Given the description of an element on the screen output the (x, y) to click on. 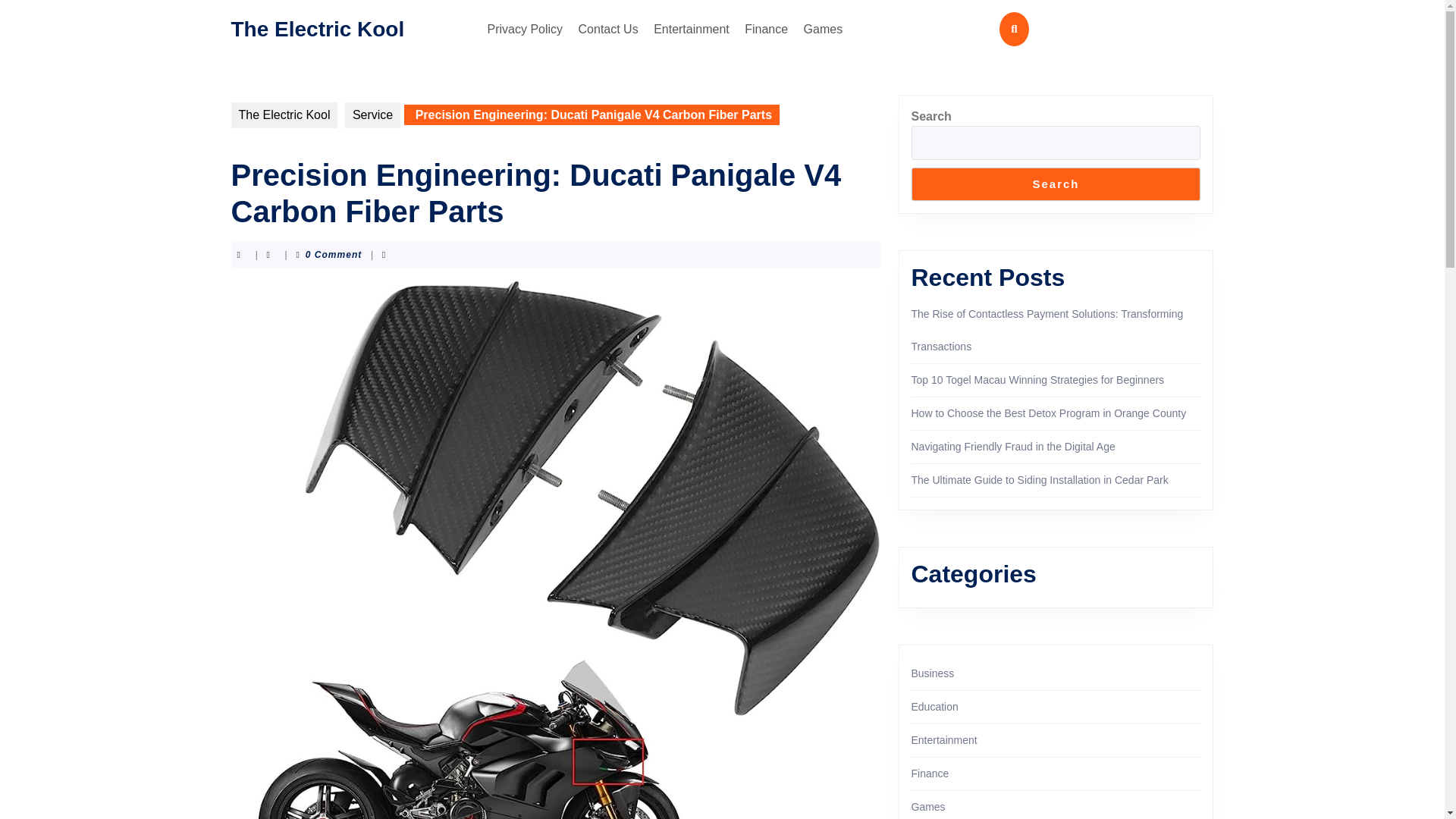
Service (372, 114)
Contact Us (608, 28)
Privacy Policy (524, 28)
The Electric Kool (317, 28)
Search (1056, 183)
The Electric Kool (283, 114)
How to Choose the Best Detox Program in Orange County (1048, 413)
Finance (765, 28)
Games (822, 28)
